Given the description of an element on the screen output the (x, y) to click on. 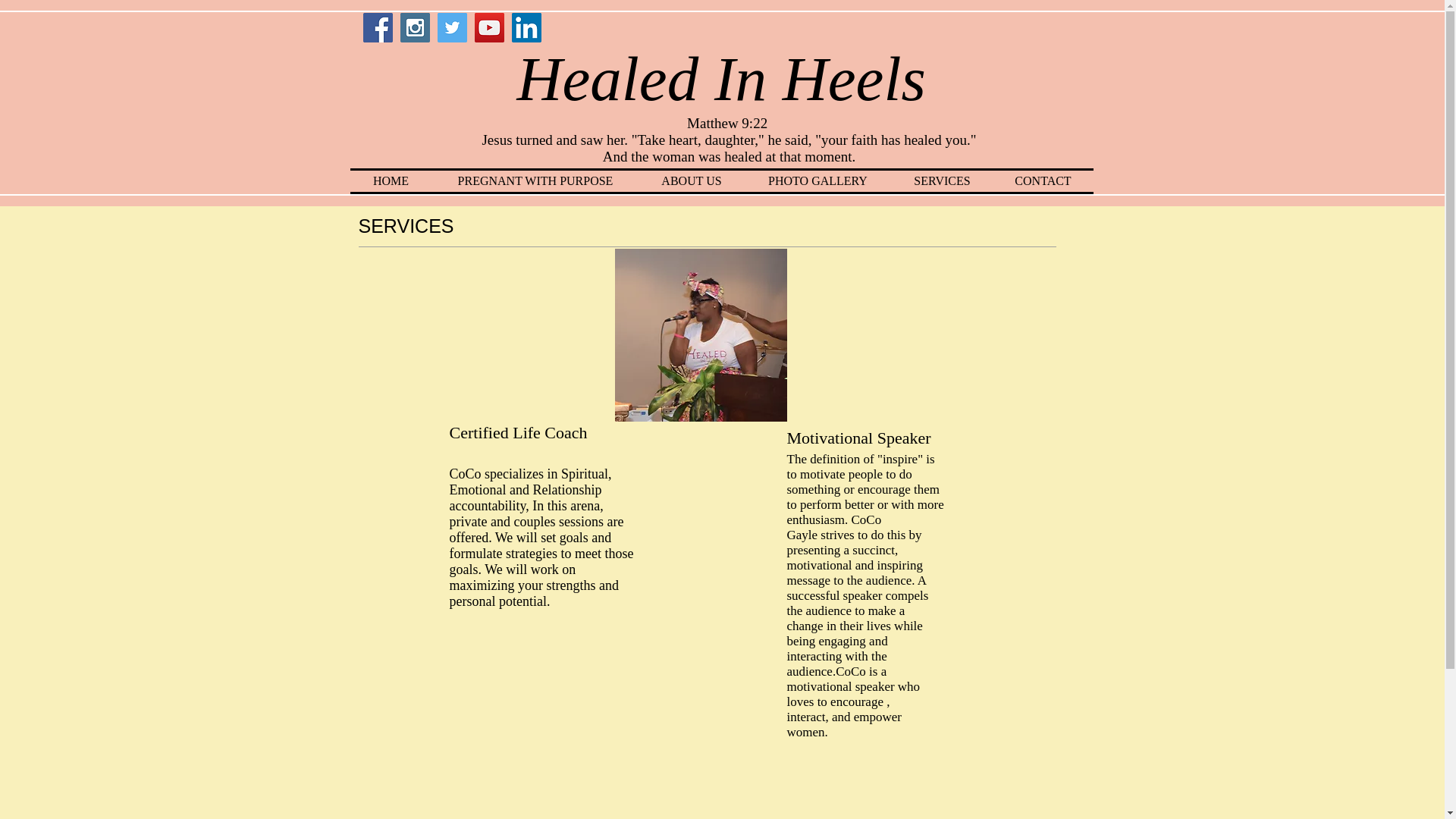
PHOTO GALLERY (817, 180)
PREGNANT WITH PURPOSE (535, 180)
ABOUT US (691, 180)
HOME (391, 180)
Healed In Heels  (728, 78)
SERVICES (941, 180)
CONTACT (1042, 180)
